Given the description of an element on the screen output the (x, y) to click on. 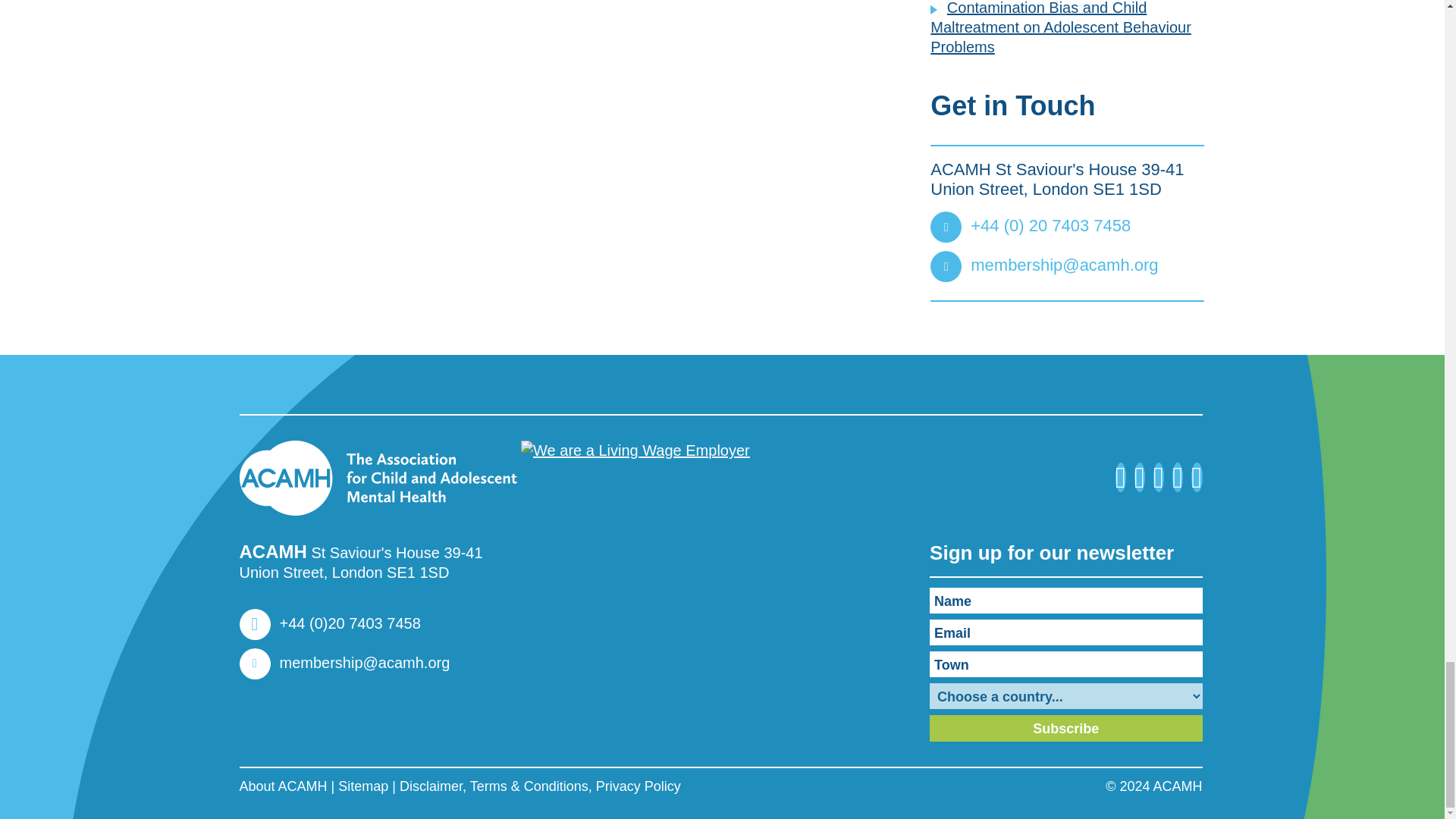
Subscribe (1066, 728)
